Given the description of an element on the screen output the (x, y) to click on. 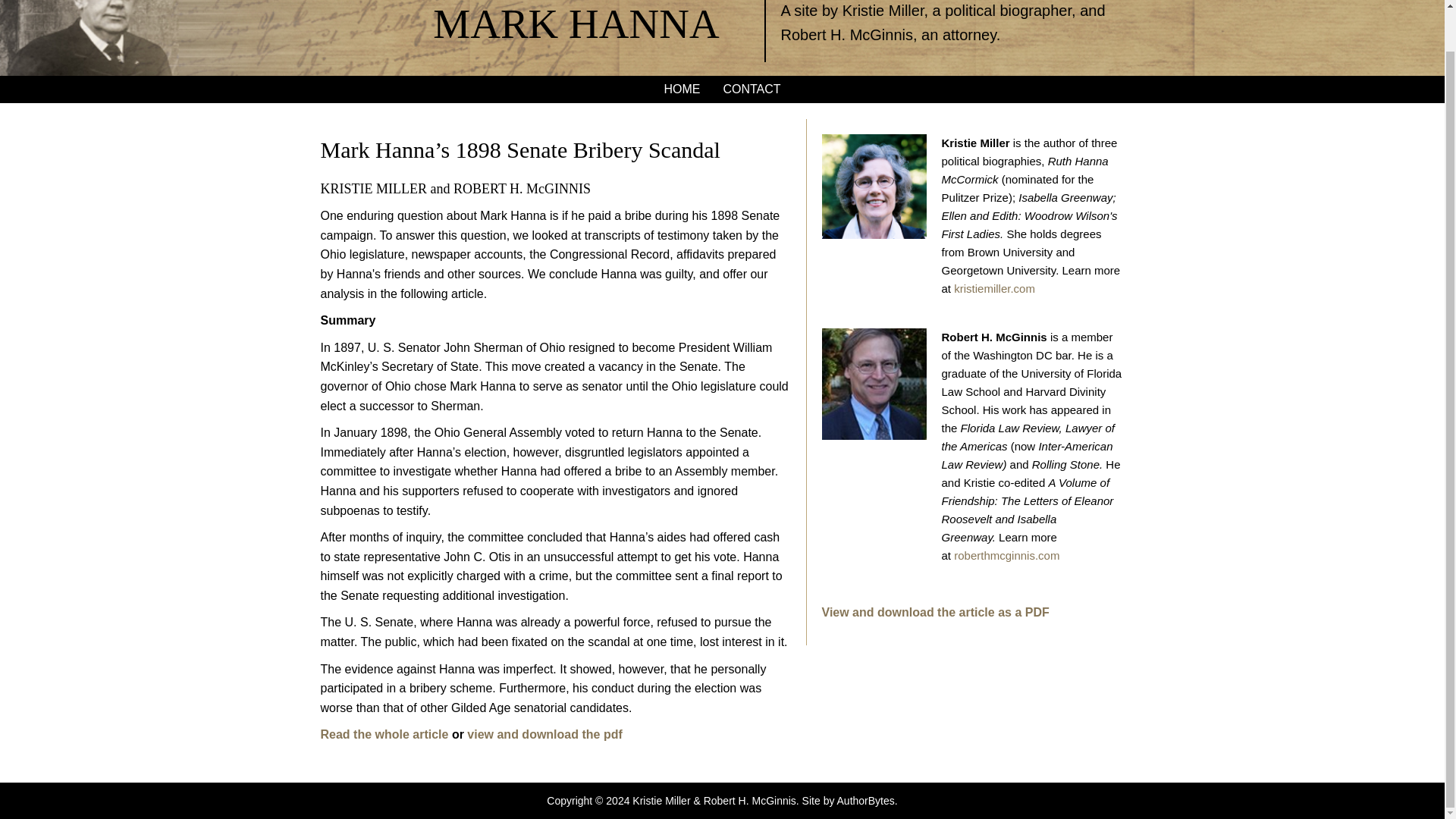
kristiemiller.com (994, 287)
CONTACT (751, 89)
MARK HANNA (575, 23)
View and download the article as a PDF (935, 612)
Read the whole article (384, 734)
kristiemiller-headshot (874, 186)
HOME (681, 89)
view and download the pdf (544, 734)
Mark Hanna (575, 23)
AuthorBytes (866, 800)
roberthmcginnis.com (1006, 554)
McGinnis-site-photo (874, 383)
